Given the description of an element on the screen output the (x, y) to click on. 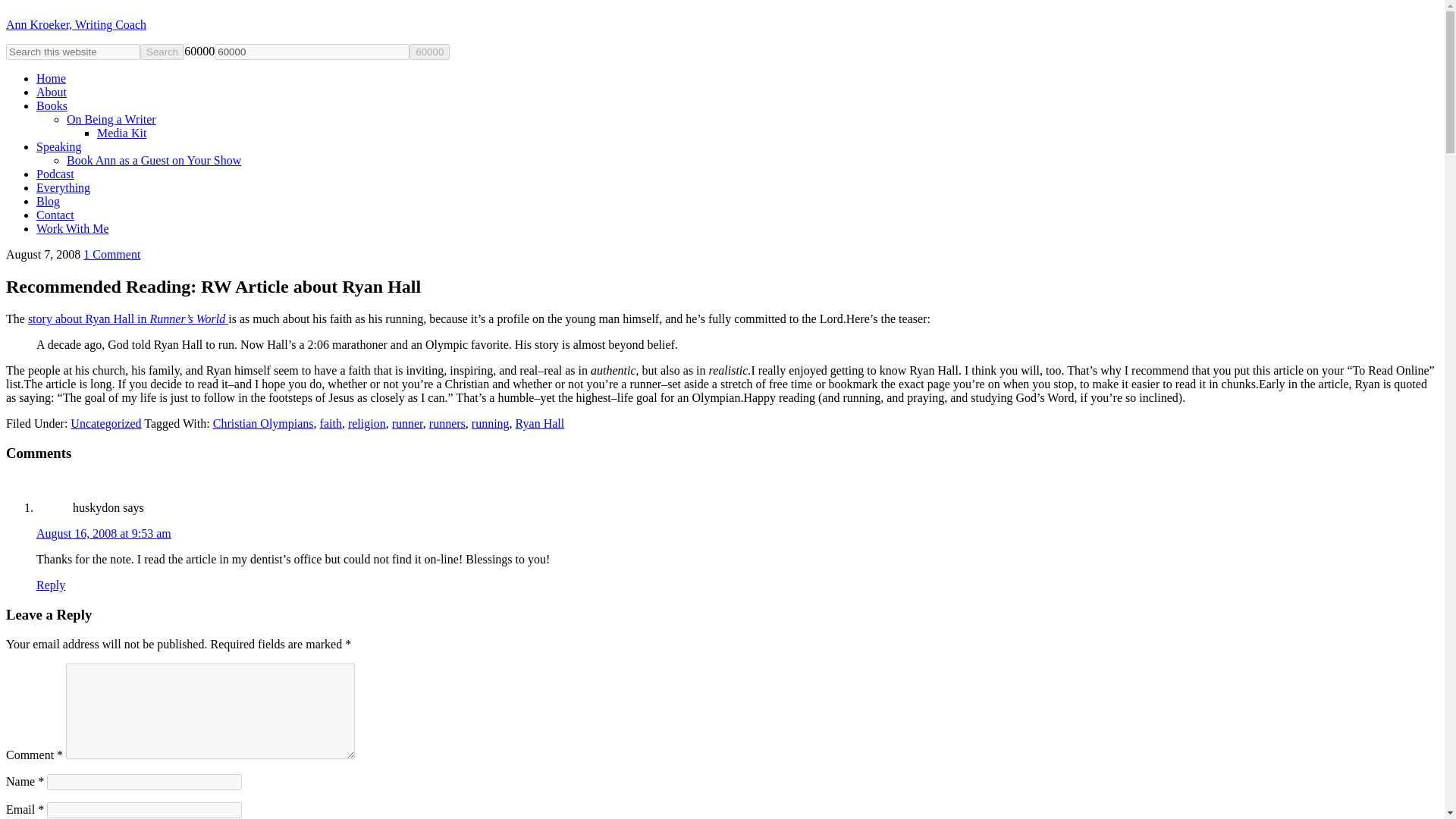
faith (331, 422)
Search (161, 51)
Work With Me (72, 228)
Book Ann as a Guest on Your Show (153, 160)
60000 (311, 51)
running (490, 422)
August 16, 2008 at 9:53 am (103, 533)
1 Comment (110, 254)
Podcast (55, 173)
60000 (429, 51)
Ann Kroeker, Writing Coach (76, 24)
On Being a Writer (110, 119)
60000 (429, 51)
Books (51, 105)
Speaking (58, 146)
